Given the description of an element on the screen output the (x, y) to click on. 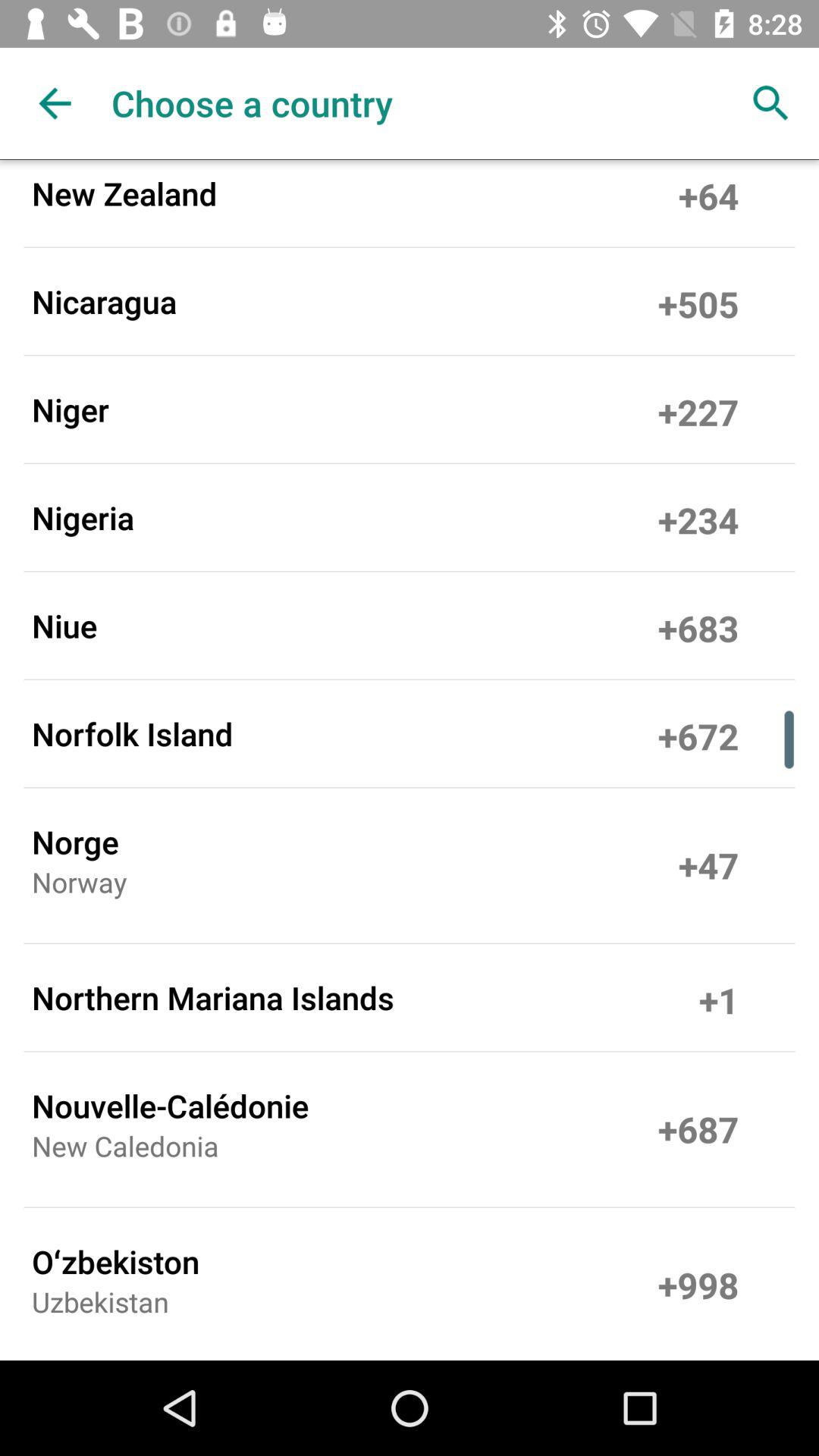
launch item next to nicaragua (698, 301)
